Given the description of an element on the screen output the (x, y) to click on. 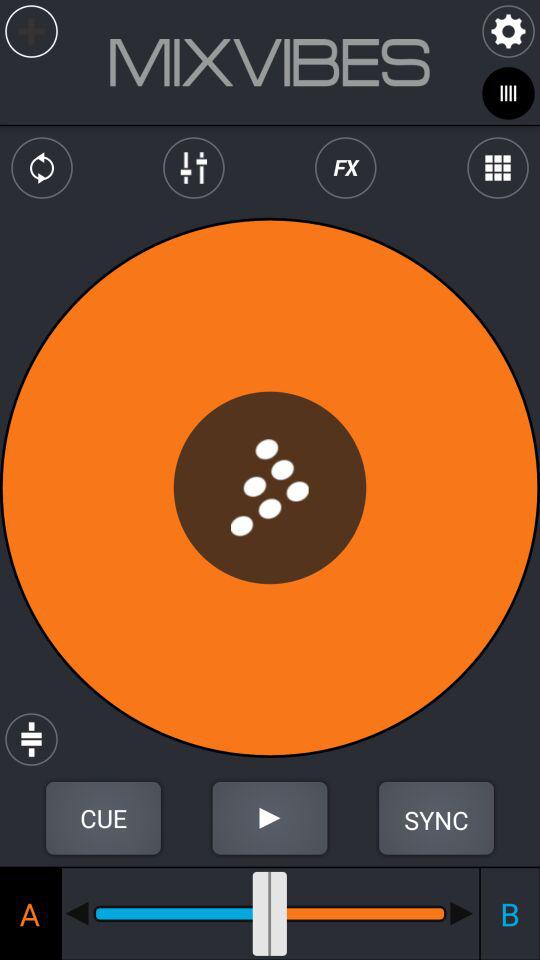
plays the b side of the record (462, 913)
